Given the description of an element on the screen output the (x, y) to click on. 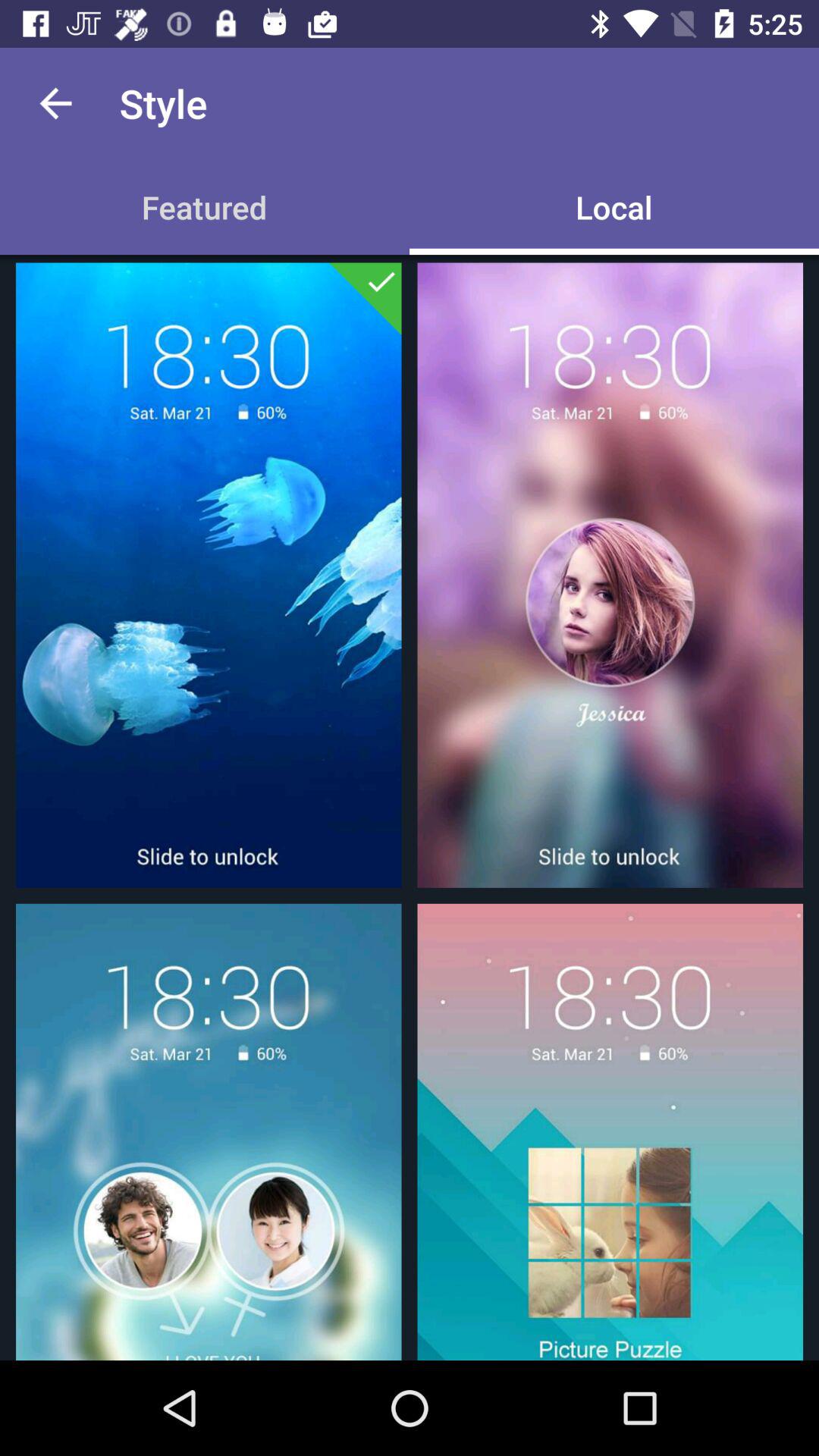
click the icon to the left of style app (55, 103)
